Given the description of an element on the screen output the (x, y) to click on. 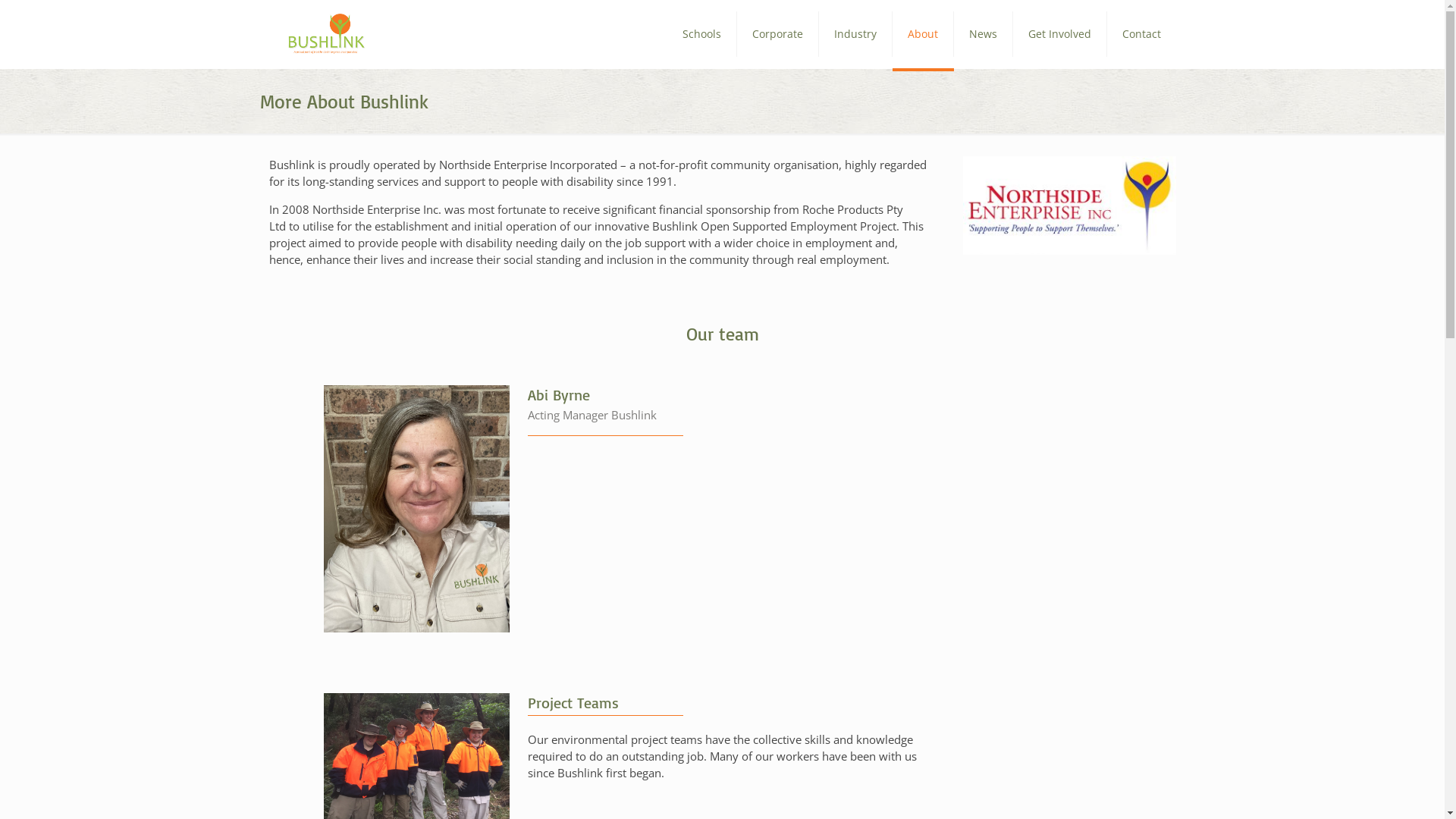
Corporate Element type: text (778, 34)
News Element type: text (983, 34)
Industry Element type: text (855, 34)
Get Involved Element type: text (1060, 34)
Bushlink Element type: hover (326, 34)
Contact Element type: text (1141, 34)
About Element type: text (922, 34)
Schools Element type: text (702, 34)
